Given the description of an element on the screen output the (x, y) to click on. 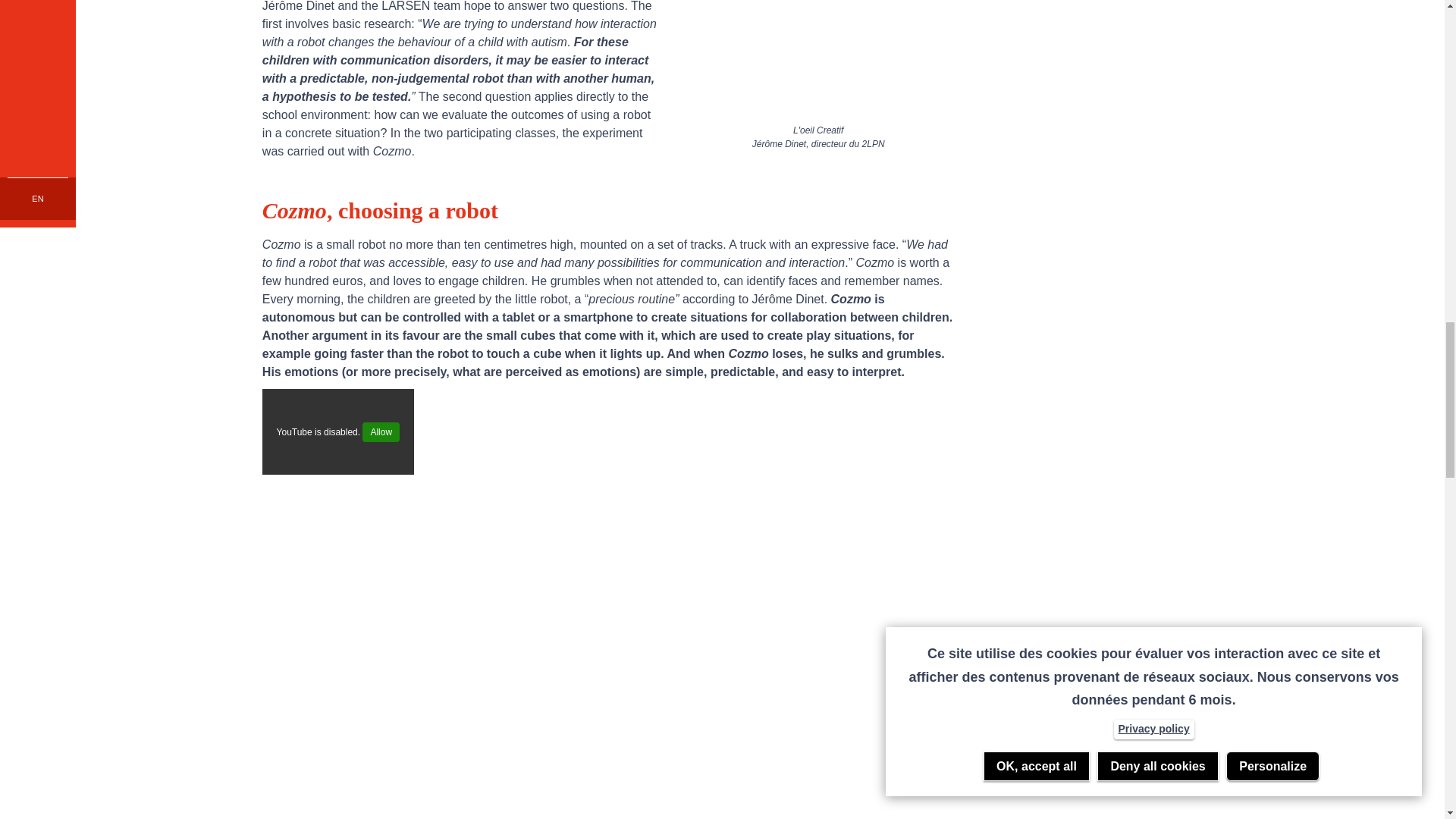
Allow (380, 432)
